Given the description of an element on the screen output the (x, y) to click on. 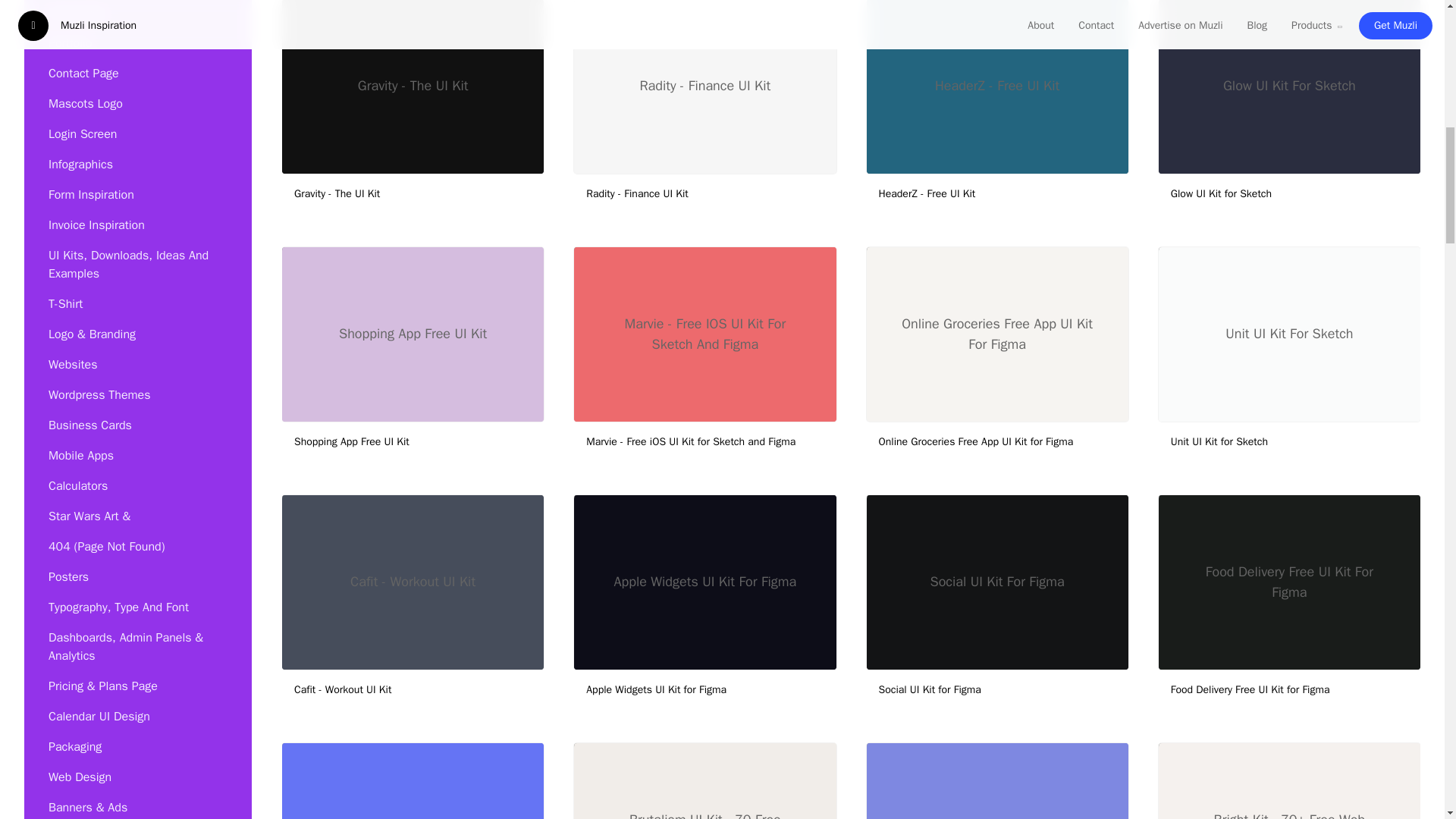
Portfolio (137, 42)
Contact Page (137, 72)
Homepage (137, 13)
